Given the description of an element on the screen output the (x, y) to click on. 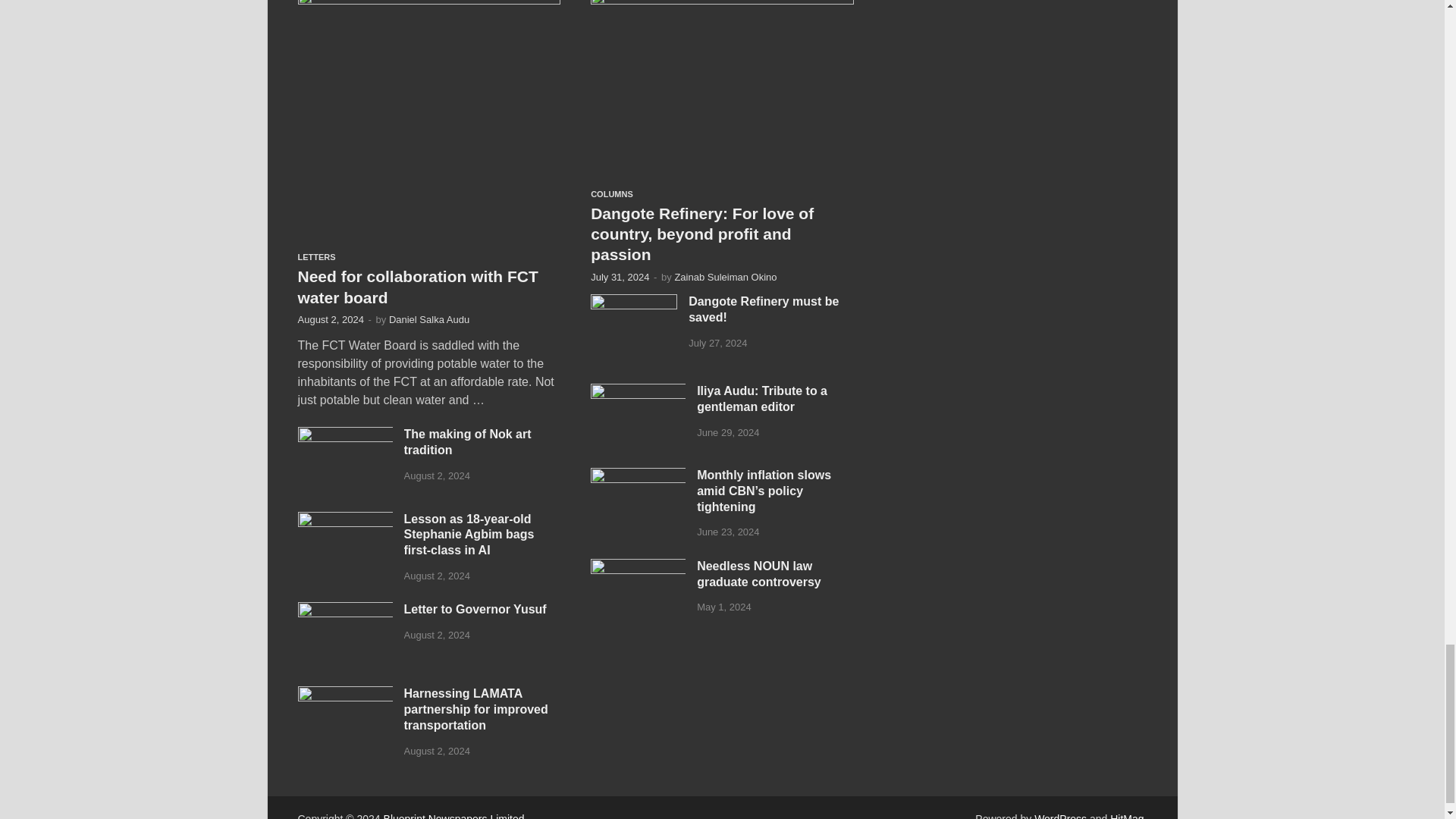
Need for collaboration with FCT water board (428, 2)
Harnessing LAMATA partnership for improved transportation (344, 694)
The making of Nok art tradition (344, 435)
Lesson as 18-year-old Stephanie Agbim bags first-class in AI (344, 520)
